Given the description of an element on the screen output the (x, y) to click on. 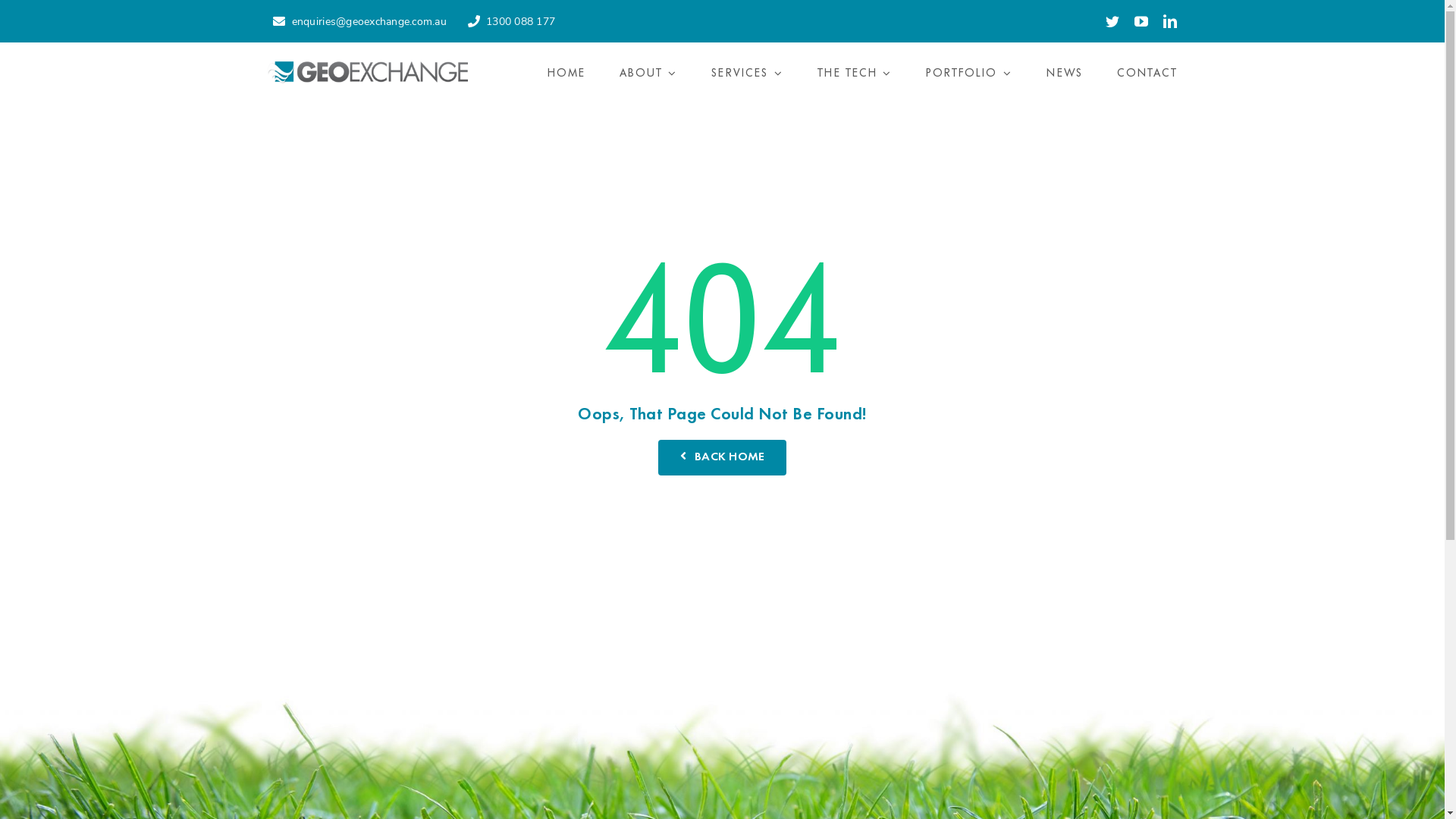
PORTFOLIO Element type: text (968, 72)
BACK HOME Element type: text (722, 456)
1300 088 177 Element type: text (508, 21)
NEWS Element type: text (1064, 72)
enquiries@geoexchange.com.au Element type: text (355, 21)
THE TECH Element type: text (854, 72)
ABOUT Element type: text (648, 72)
CONTACT Element type: text (1147, 72)
HOME Element type: text (566, 72)
SERVICES Element type: text (747, 72)
